Given the description of an element on the screen output the (x, y) to click on. 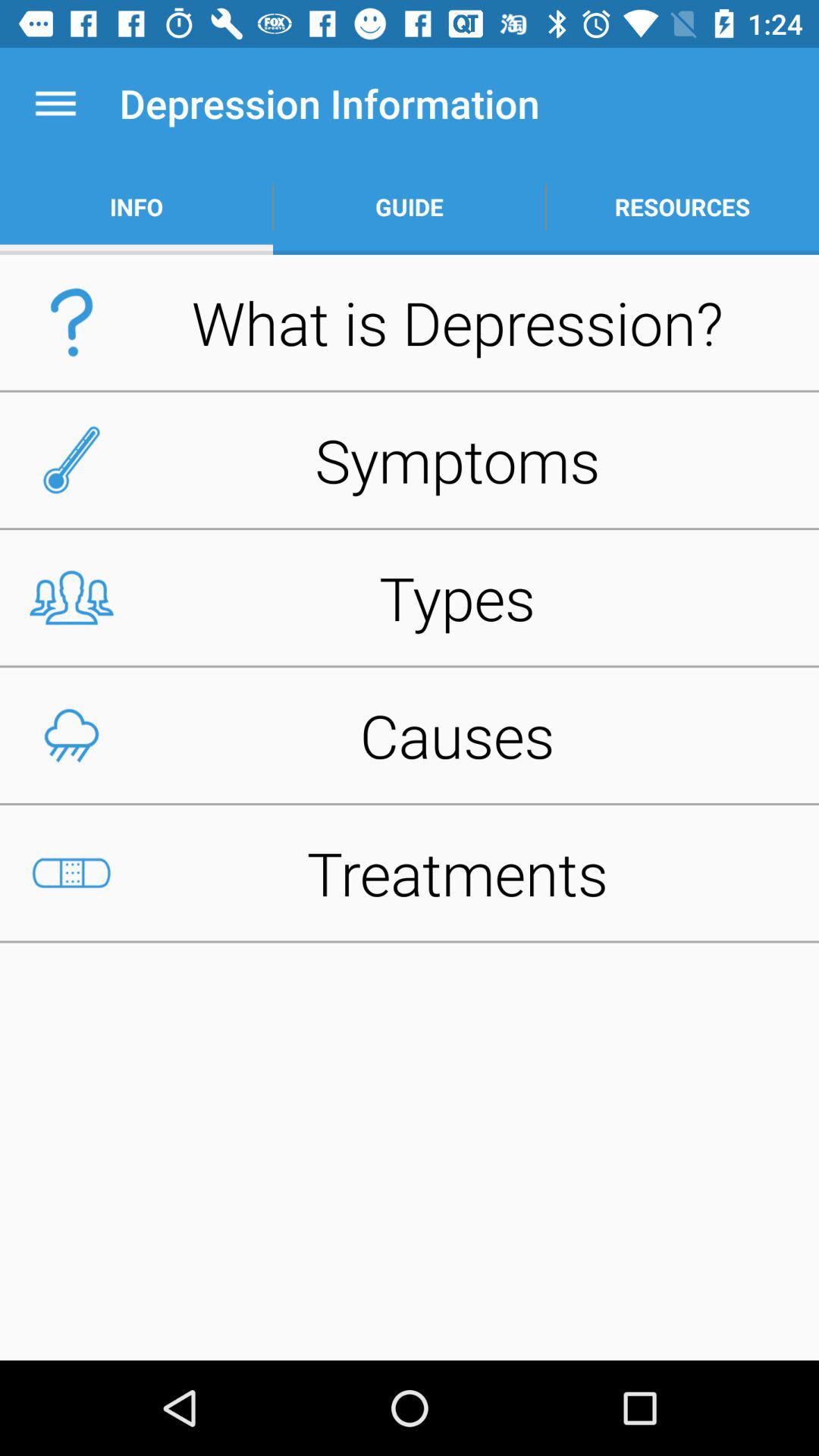
launch app at the top right corner (682, 206)
